Given the description of an element on the screen output the (x, y) to click on. 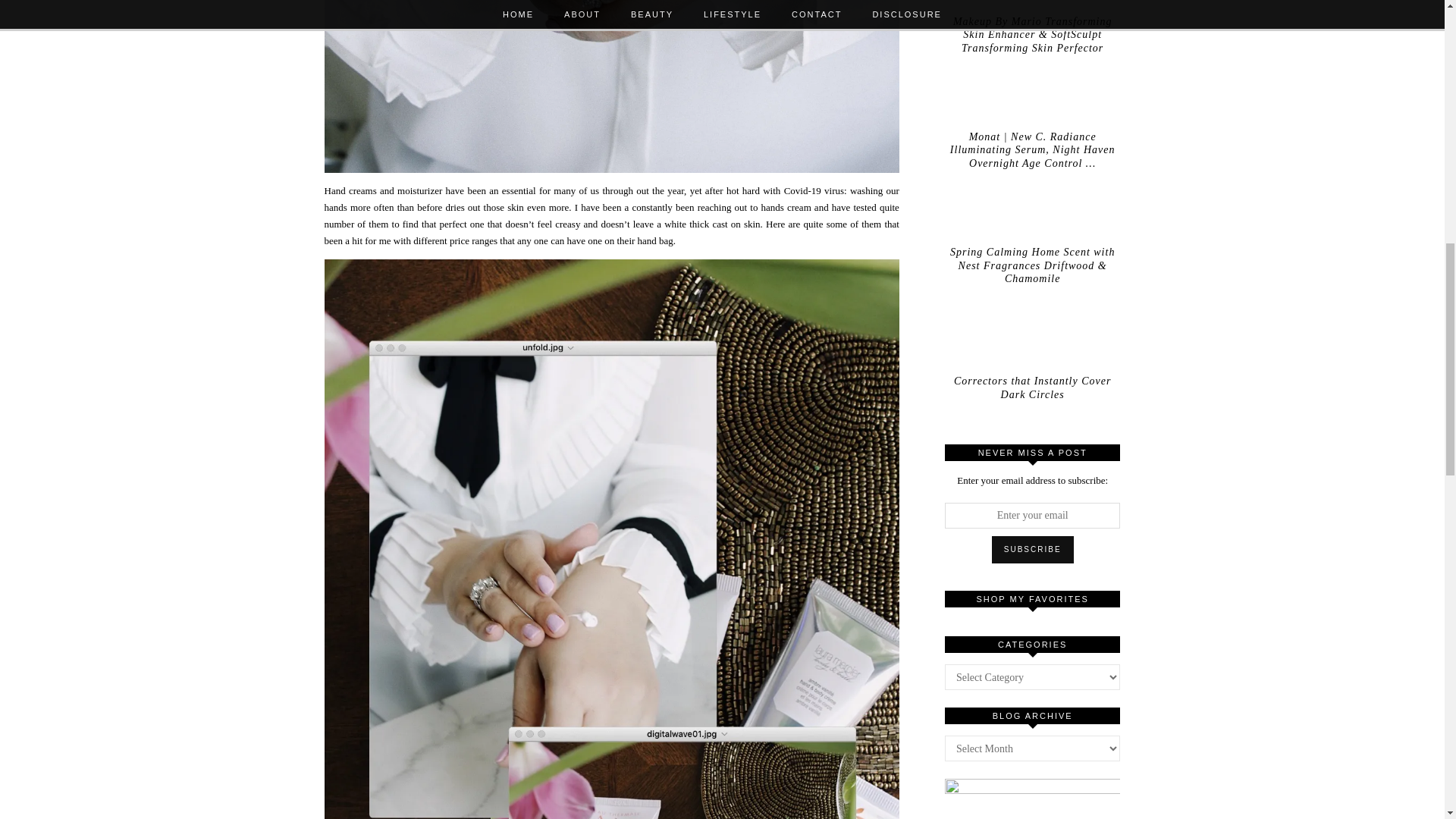
Subscribe (1032, 549)
